Given the description of an element on the screen output the (x, y) to click on. 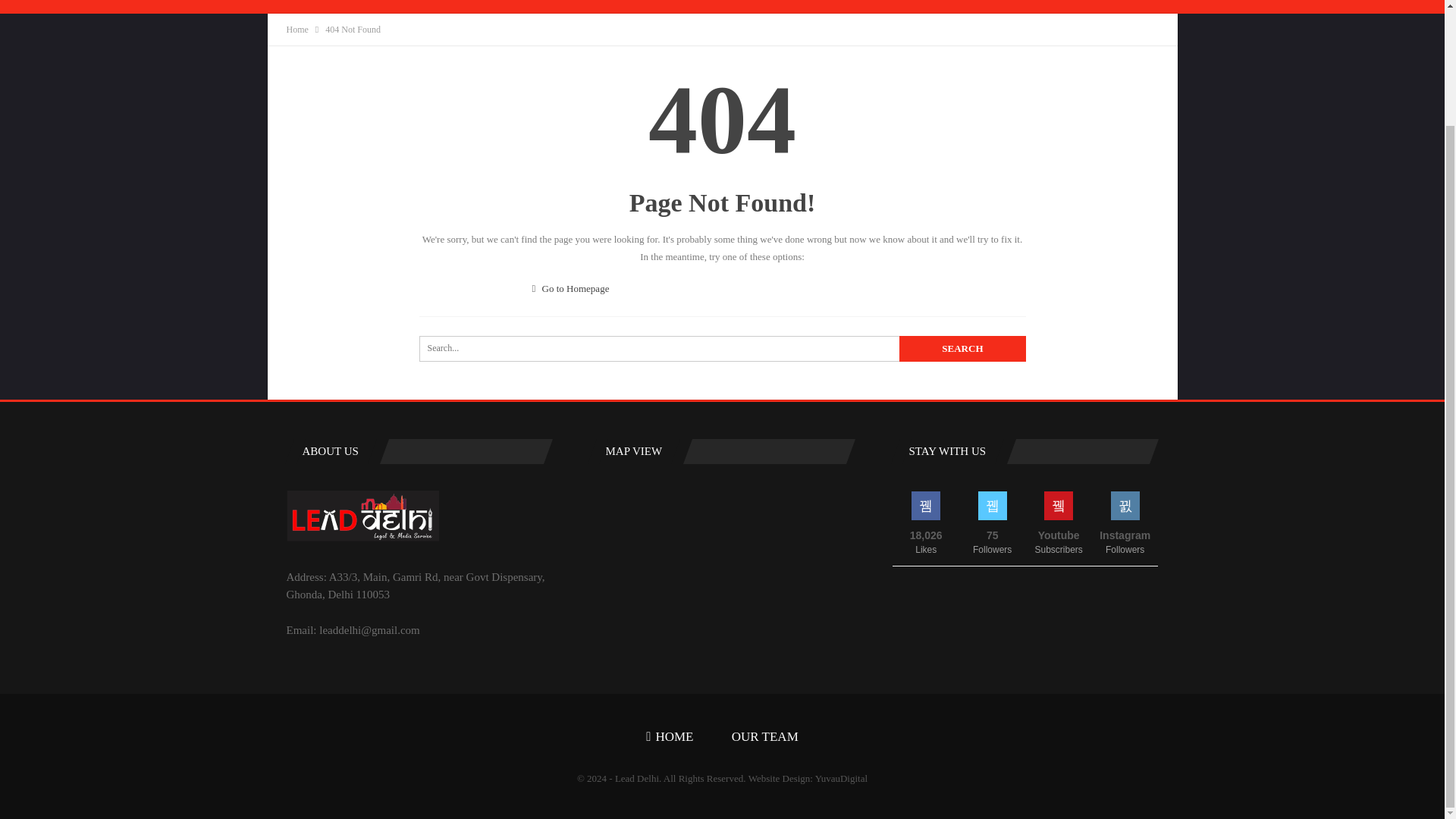
Search (962, 348)
Go to Homepage (571, 288)
Search (962, 348)
Search (962, 348)
Search for: (722, 348)
Home (297, 29)
